Given the description of an element on the screen output the (x, y) to click on. 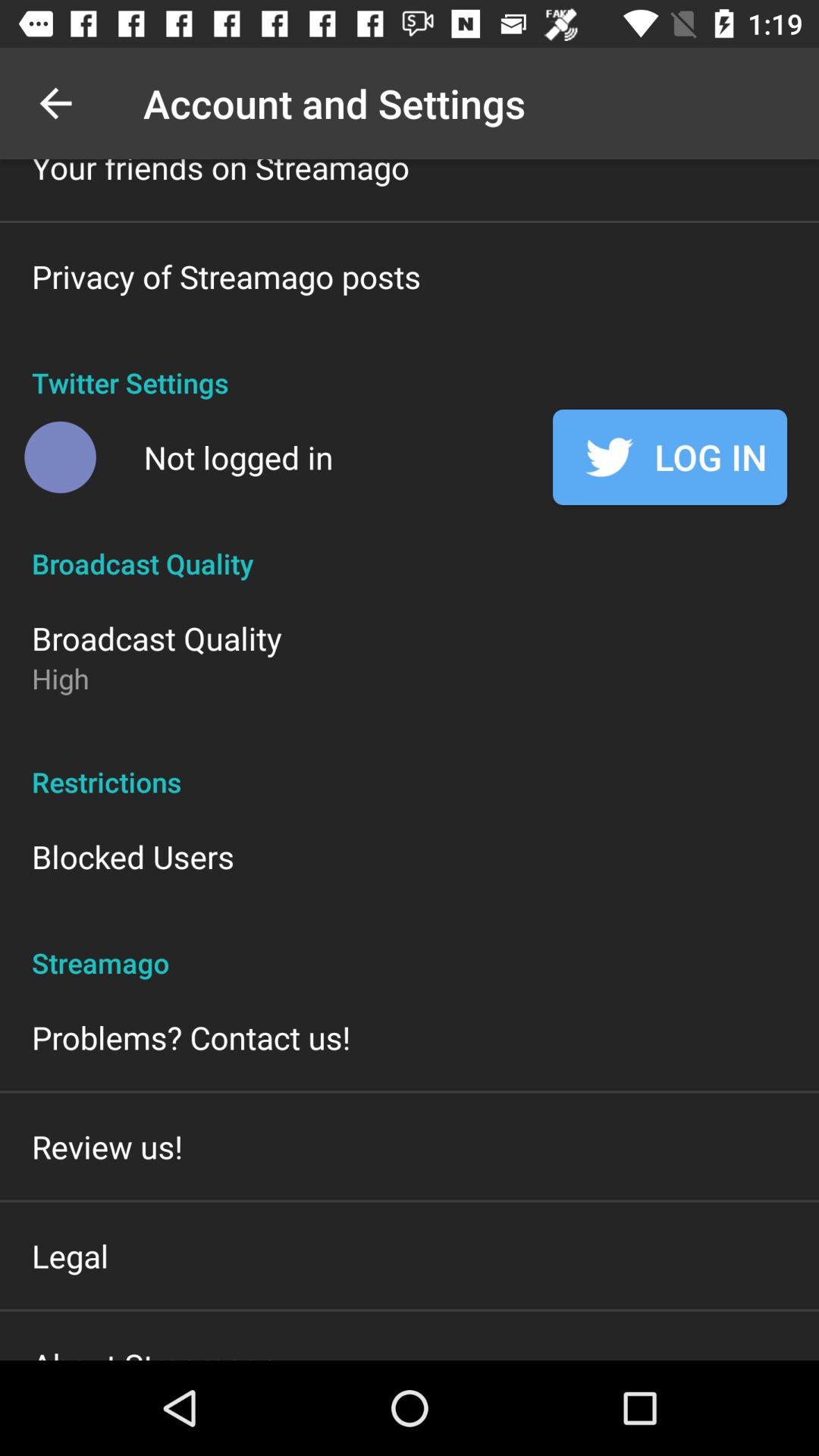
jump until the your friends on (220, 173)
